Given the description of an element on the screen output the (x, y) to click on. 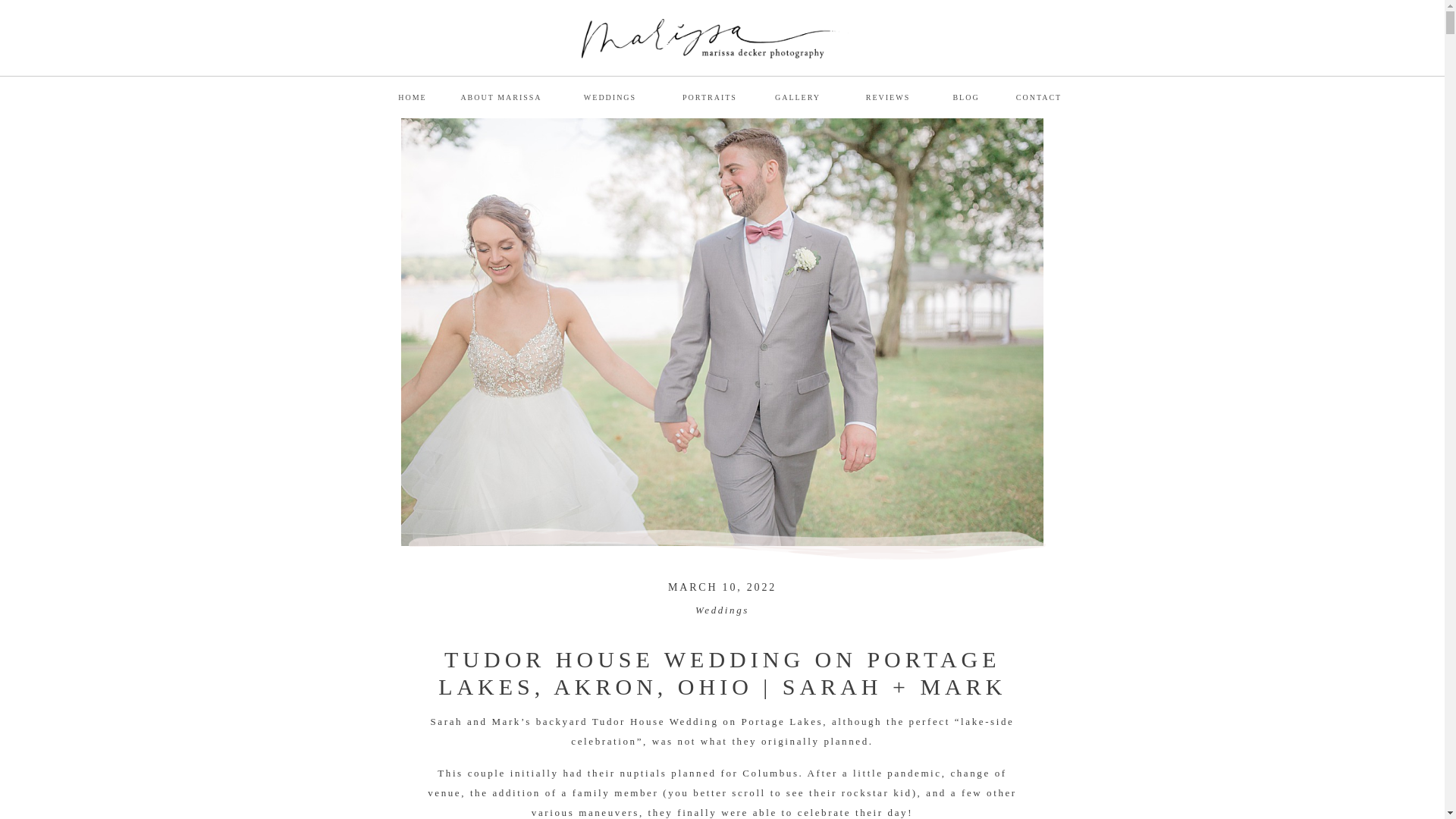
HOME (412, 96)
REVIEWS (887, 96)
ABOUT MARISSA (500, 96)
PORTRAITS (709, 96)
BLOG (966, 96)
WEDDINGS (609, 96)
GALLERY (797, 96)
CONTACT (1039, 96)
